Given the description of an element on the screen output the (x, y) to click on. 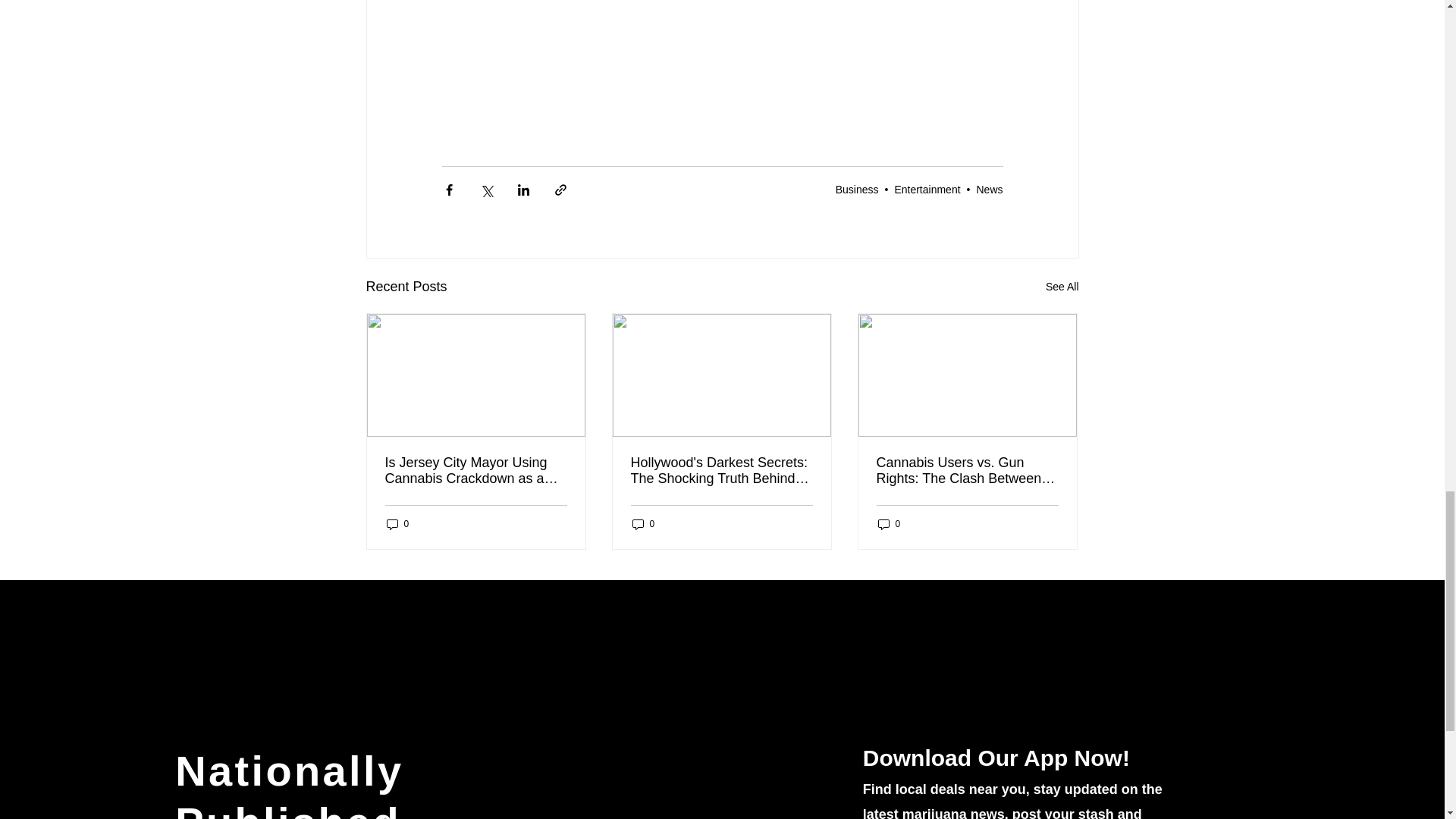
0 (397, 523)
0 (889, 523)
News (989, 189)
See All (1061, 287)
Entertainment (926, 189)
Business (857, 189)
0 (643, 523)
